Given the description of an element on the screen output the (x, y) to click on. 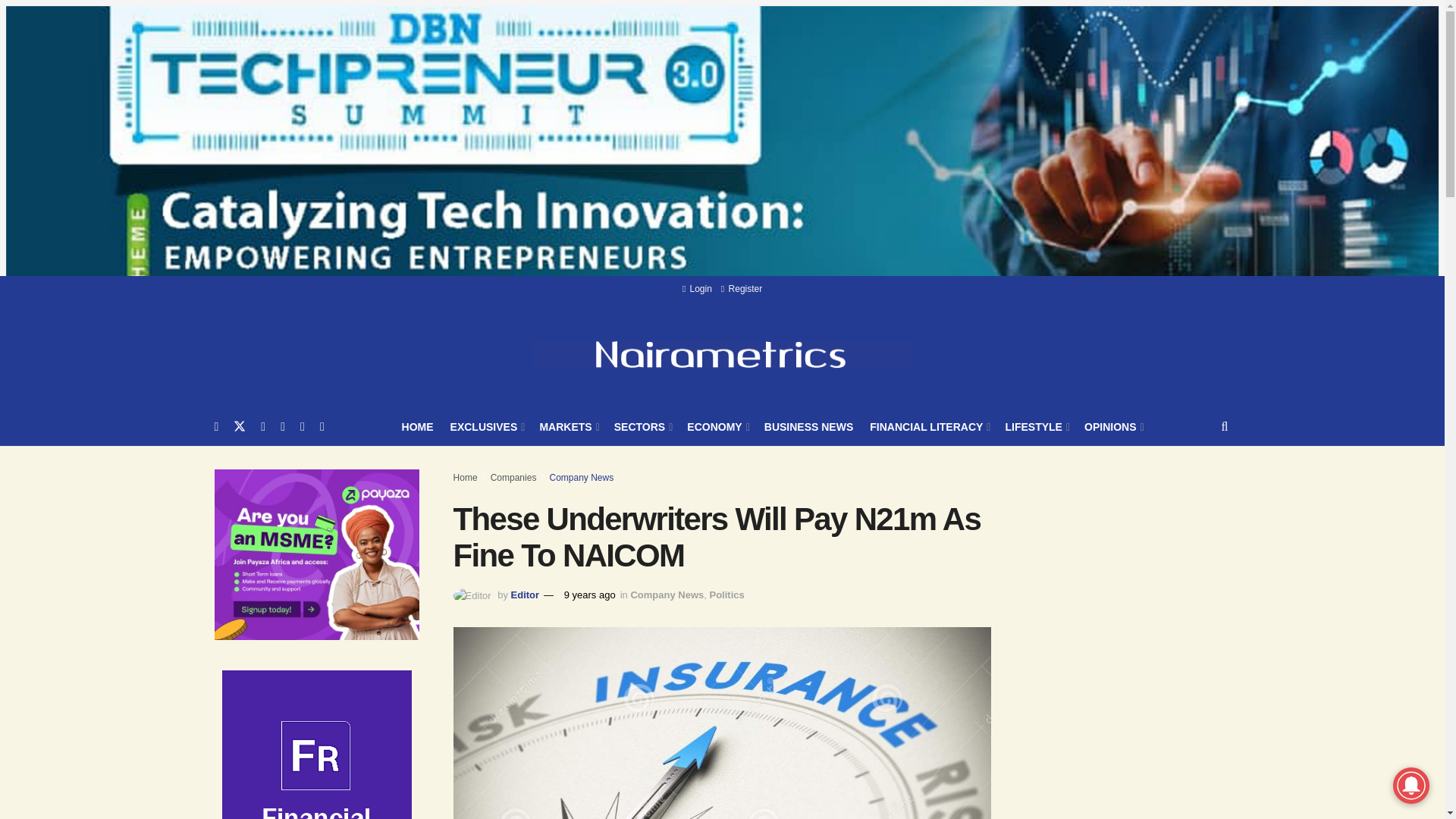
MARKETS (567, 426)
SECTORS (642, 426)
Register (740, 289)
EXCLUSIVES (485, 426)
Advertisement (1138, 785)
HOME (417, 426)
Login (696, 289)
